Given the description of an element on the screen output the (x, y) to click on. 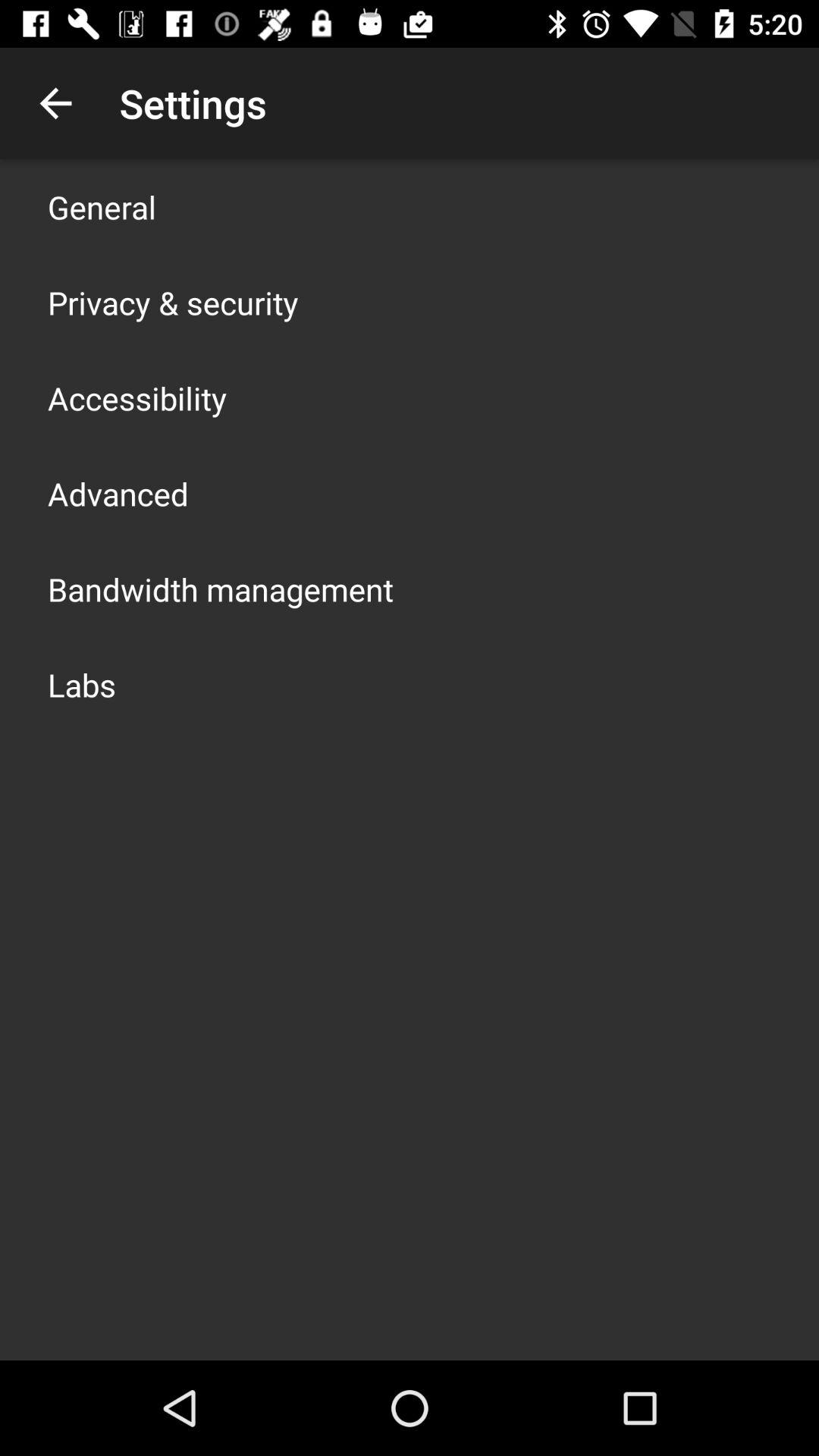
turn off item above accessibility app (172, 302)
